Given the description of an element on the screen output the (x, y) to click on. 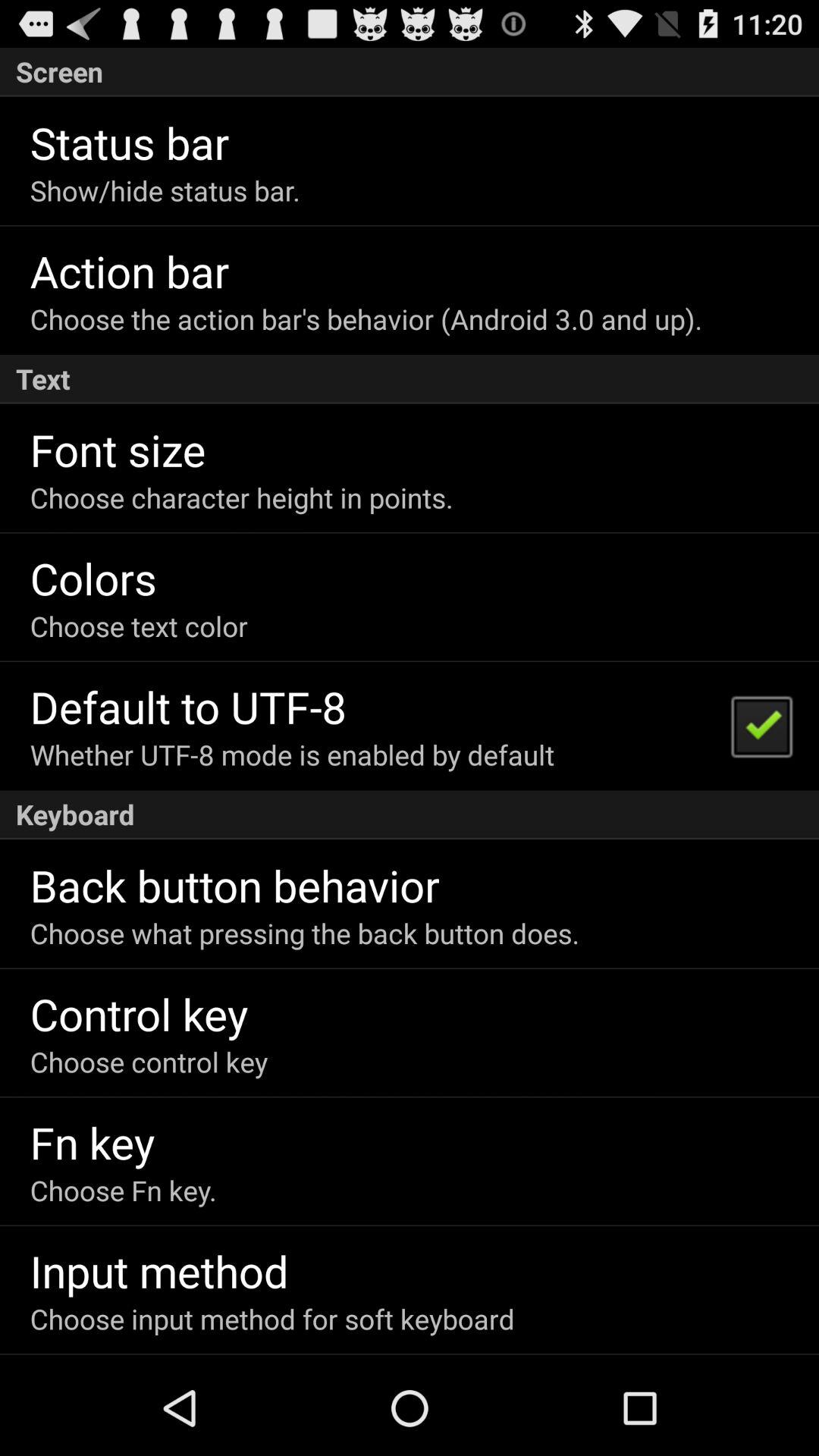
jump to the choose character height (241, 497)
